Given the description of an element on the screen output the (x, y) to click on. 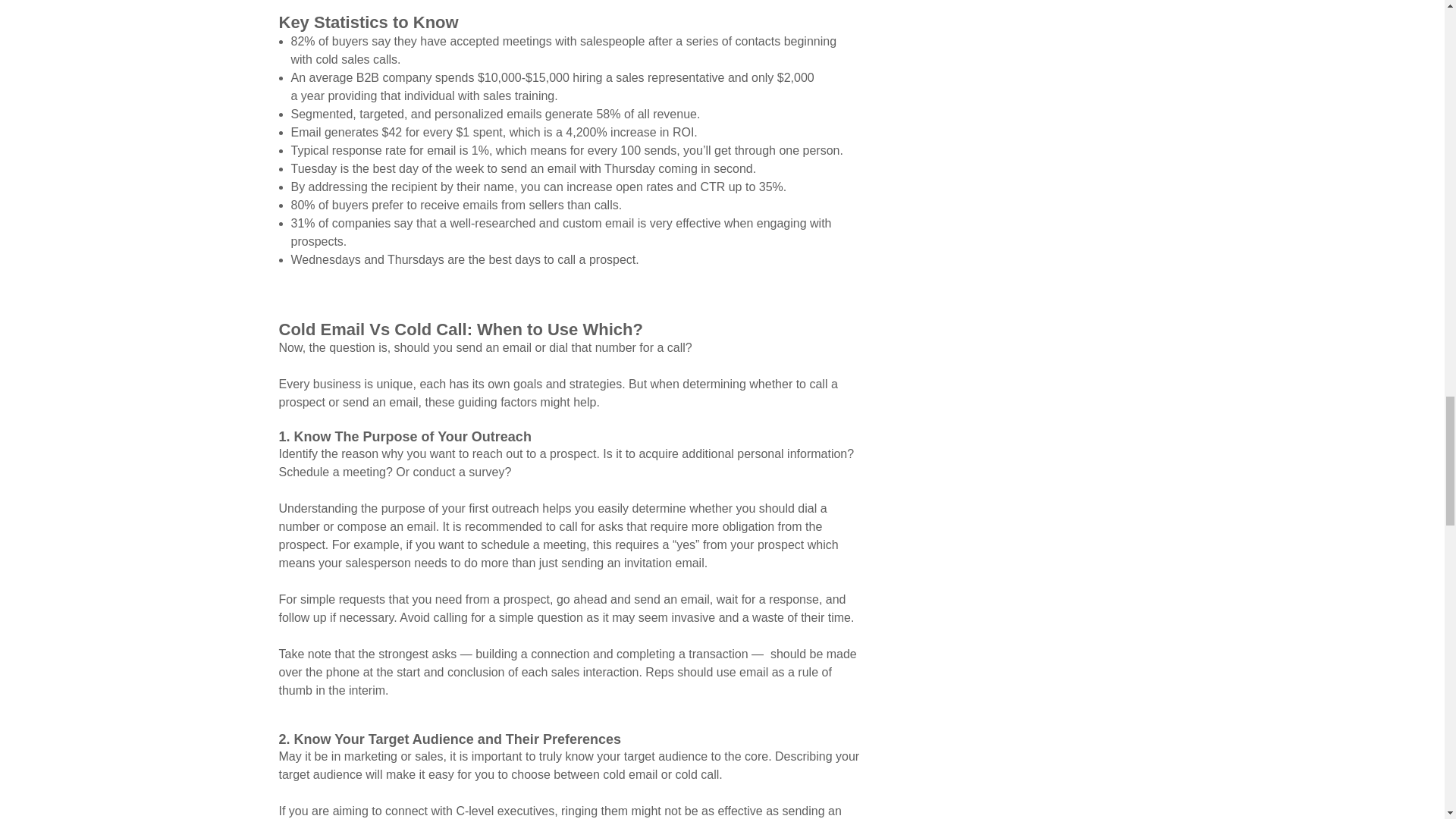
prefer to receive emails from sellers than calls (494, 205)
Tuesday is the best day of the week (387, 168)
best days to call a prospect (560, 259)
